Given the description of an element on the screen output the (x, y) to click on. 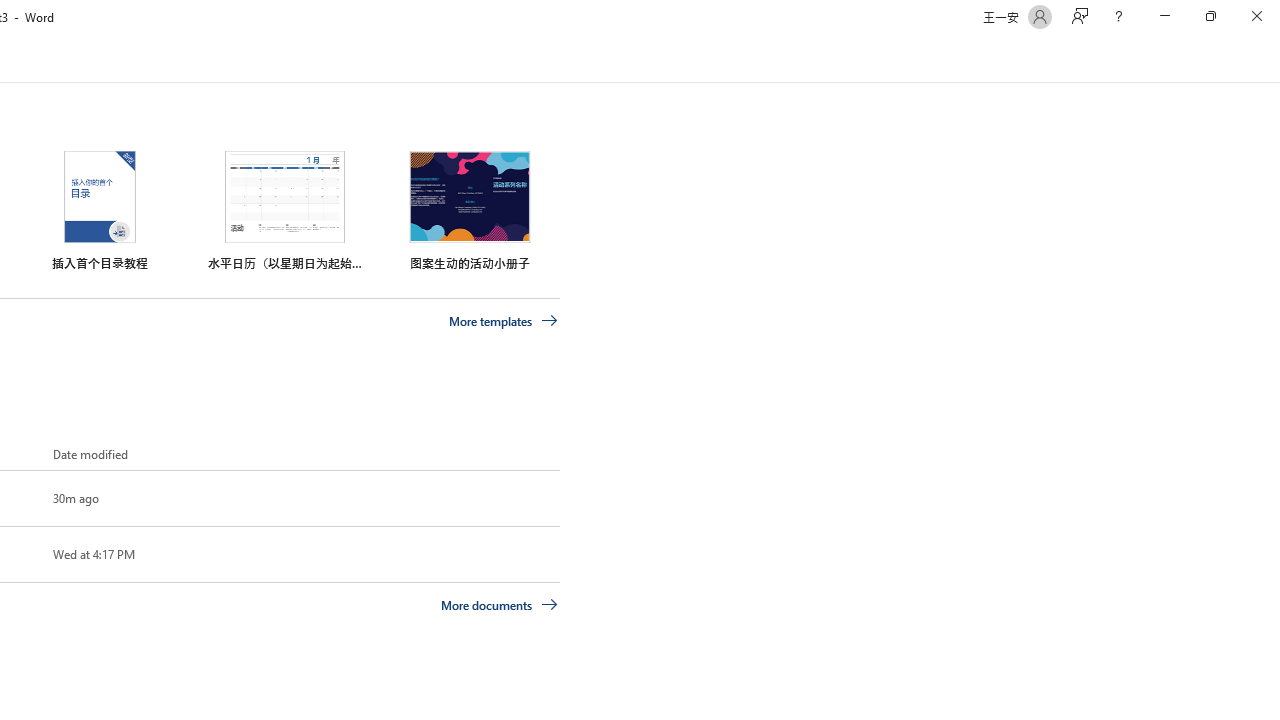
Pin this item to the list (20, 553)
Help (1118, 16)
Minimize (1164, 16)
Close (1256, 16)
Class: NetUIScrollBar (1271, 59)
More documents (499, 604)
More templates (503, 321)
Restore Down (1210, 16)
